Given the description of an element on the screen output the (x, y) to click on. 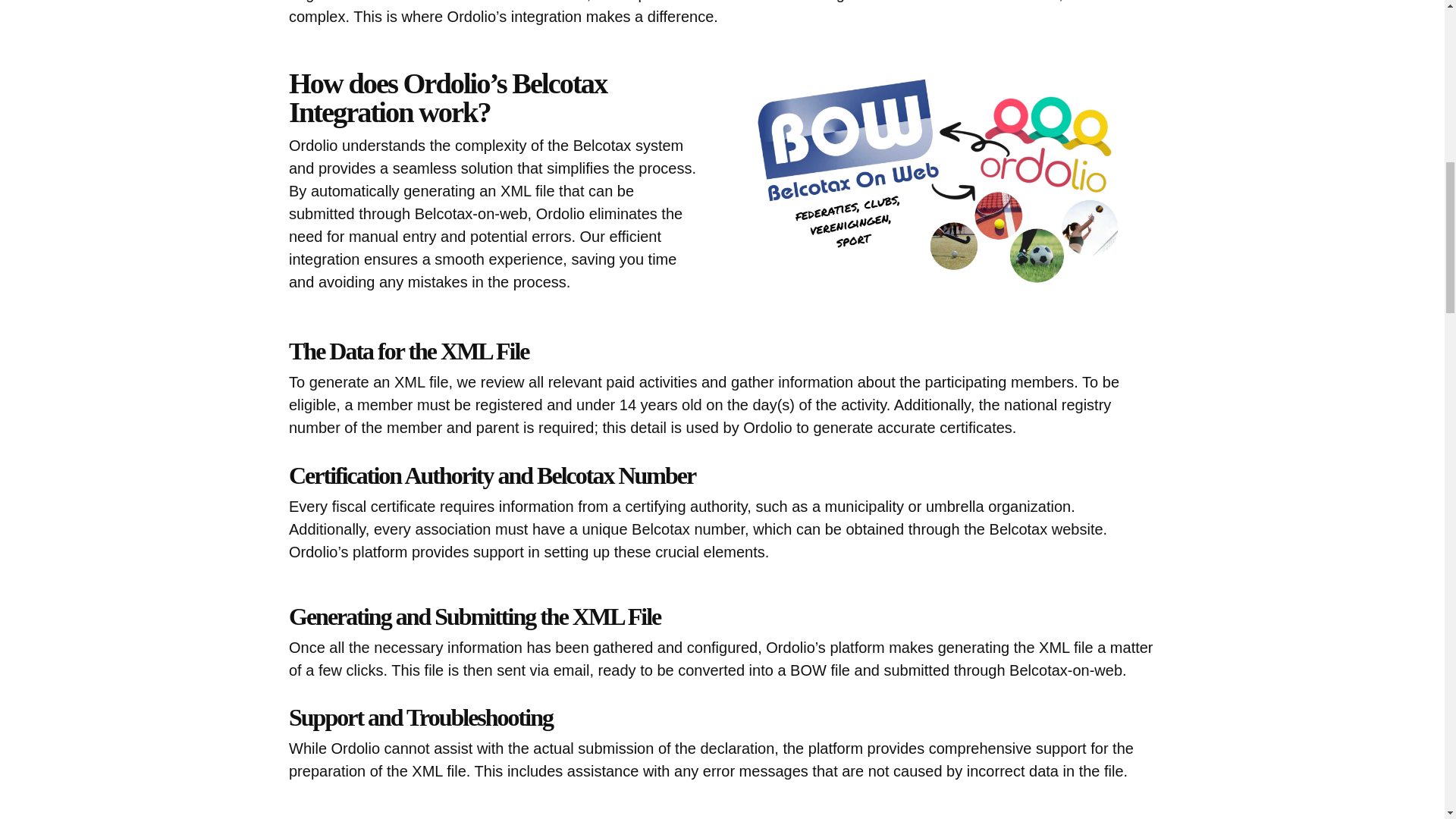
belgotax-ordolio-2-nl (950, 183)
